Given the description of an element on the screen output the (x, y) to click on. 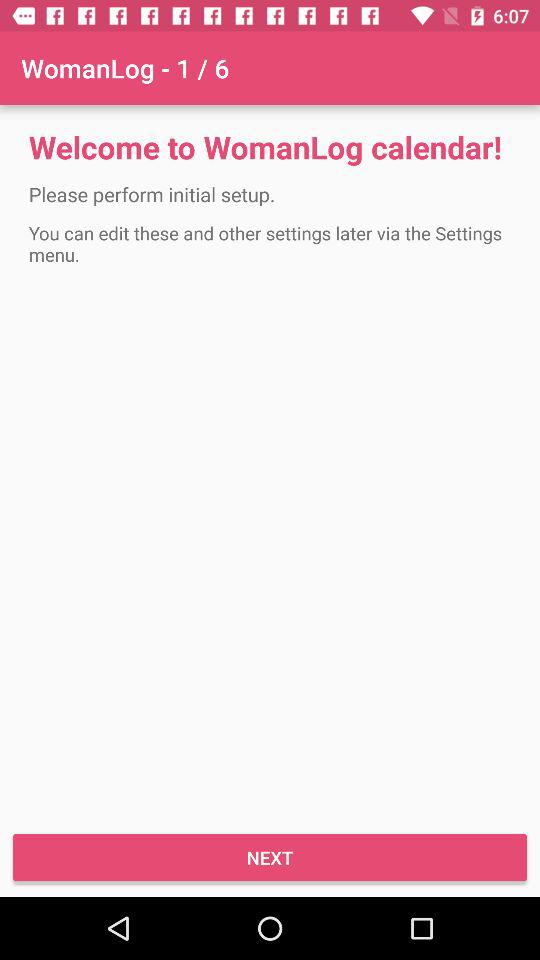
tap next item (269, 857)
